Given the description of an element on the screen output the (x, y) to click on. 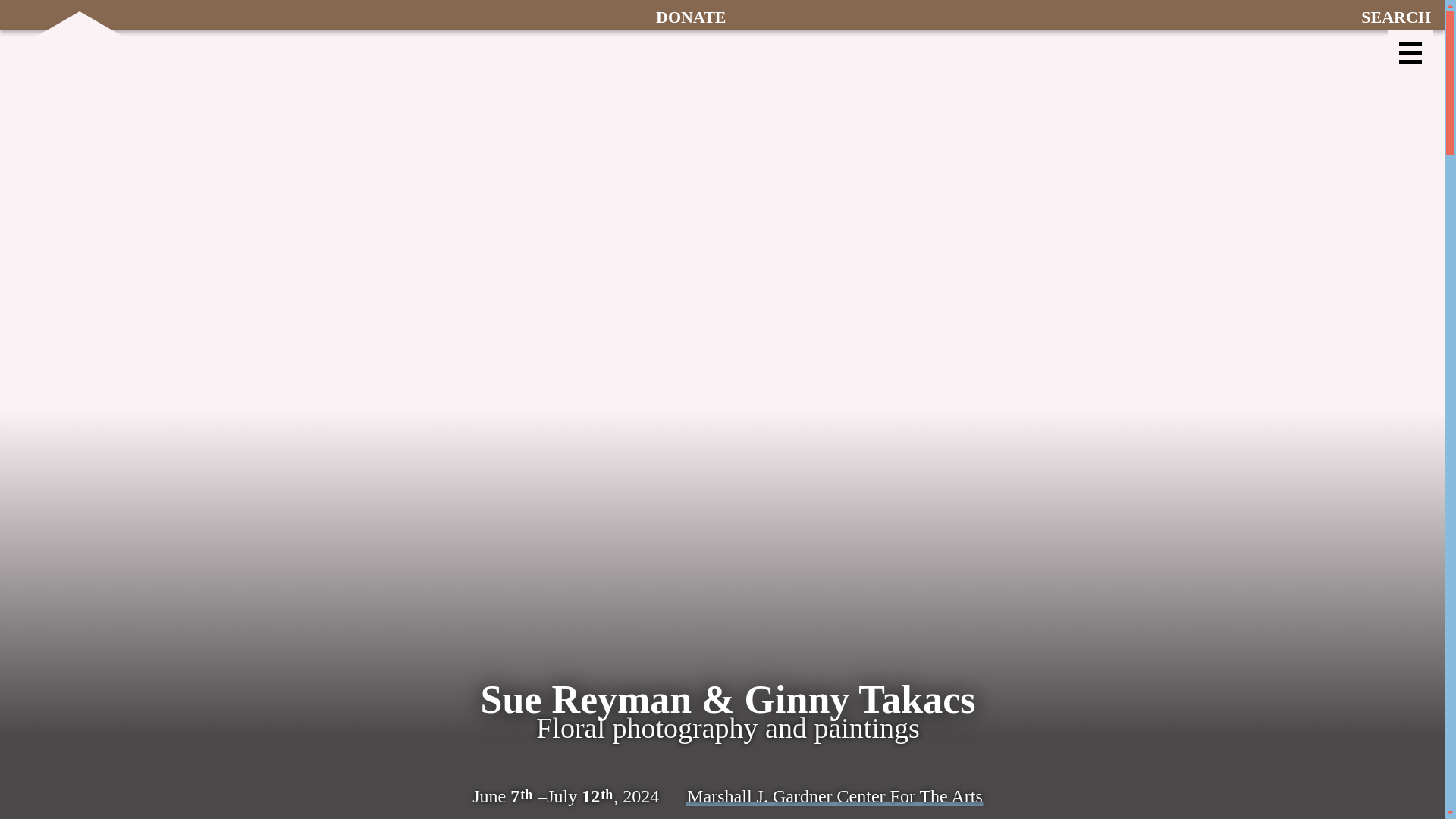
on (1409, 53)
Marshall J. Gardner Center For The Arts (833, 795)
SEARCH (1396, 15)
DONATE (690, 15)
